Given the description of an element on the screen output the (x, y) to click on. 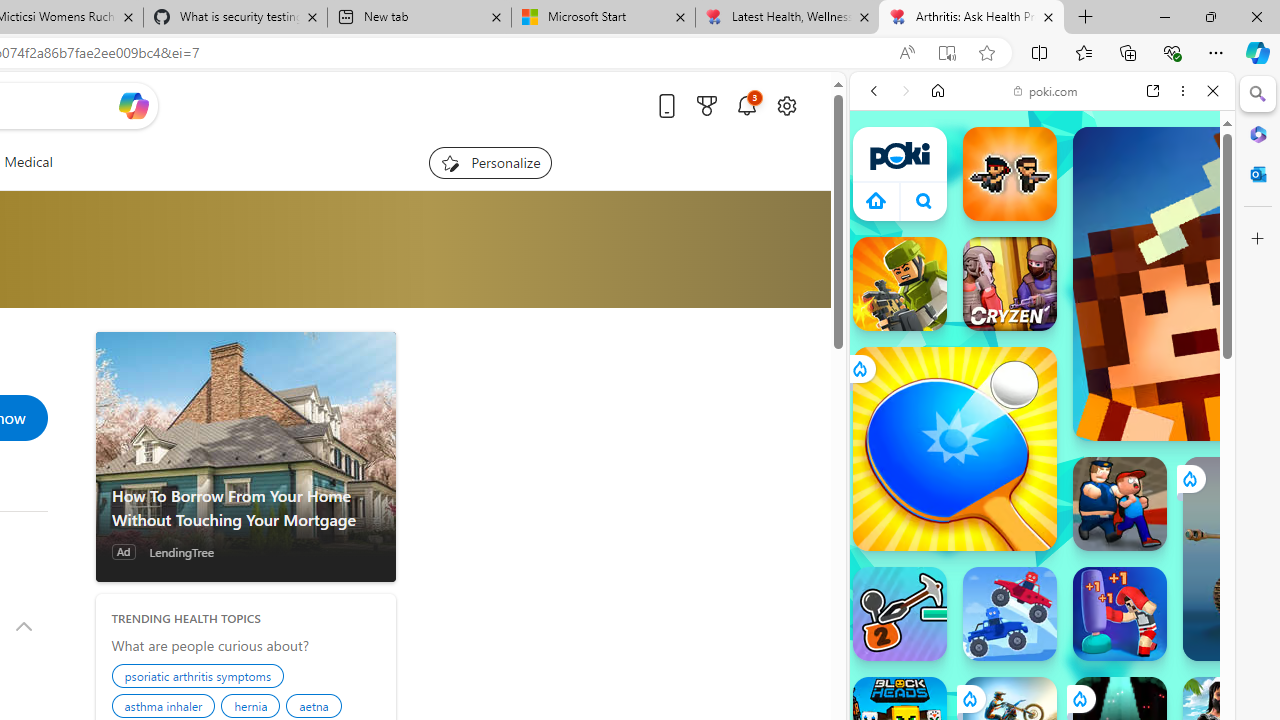
Battle Wheels (1009, 613)
Two Player Games (1042, 567)
Kour.io Kour.io (899, 283)
Zombie Rush (1009, 173)
poki.com (1046, 90)
Cryzen.io Cryzen.io (1009, 283)
Poki - Free Online Games - Play Now! (1034, 309)
